Given the description of an element on the screen output the (x, y) to click on. 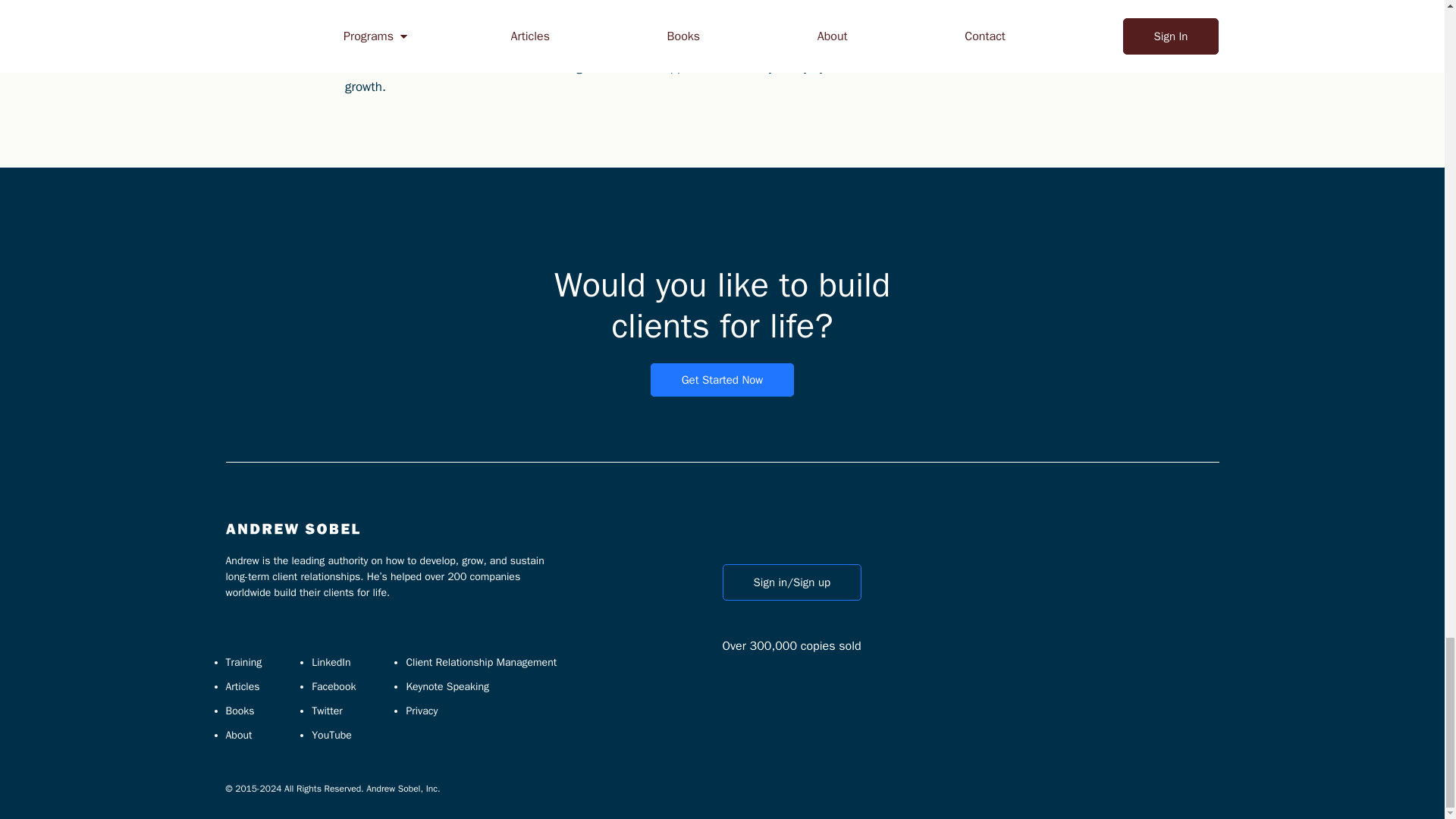
Articles (242, 686)
Books (239, 710)
Get Started Now (722, 379)
Training (243, 662)
